Given the description of an element on the screen output the (x, y) to click on. 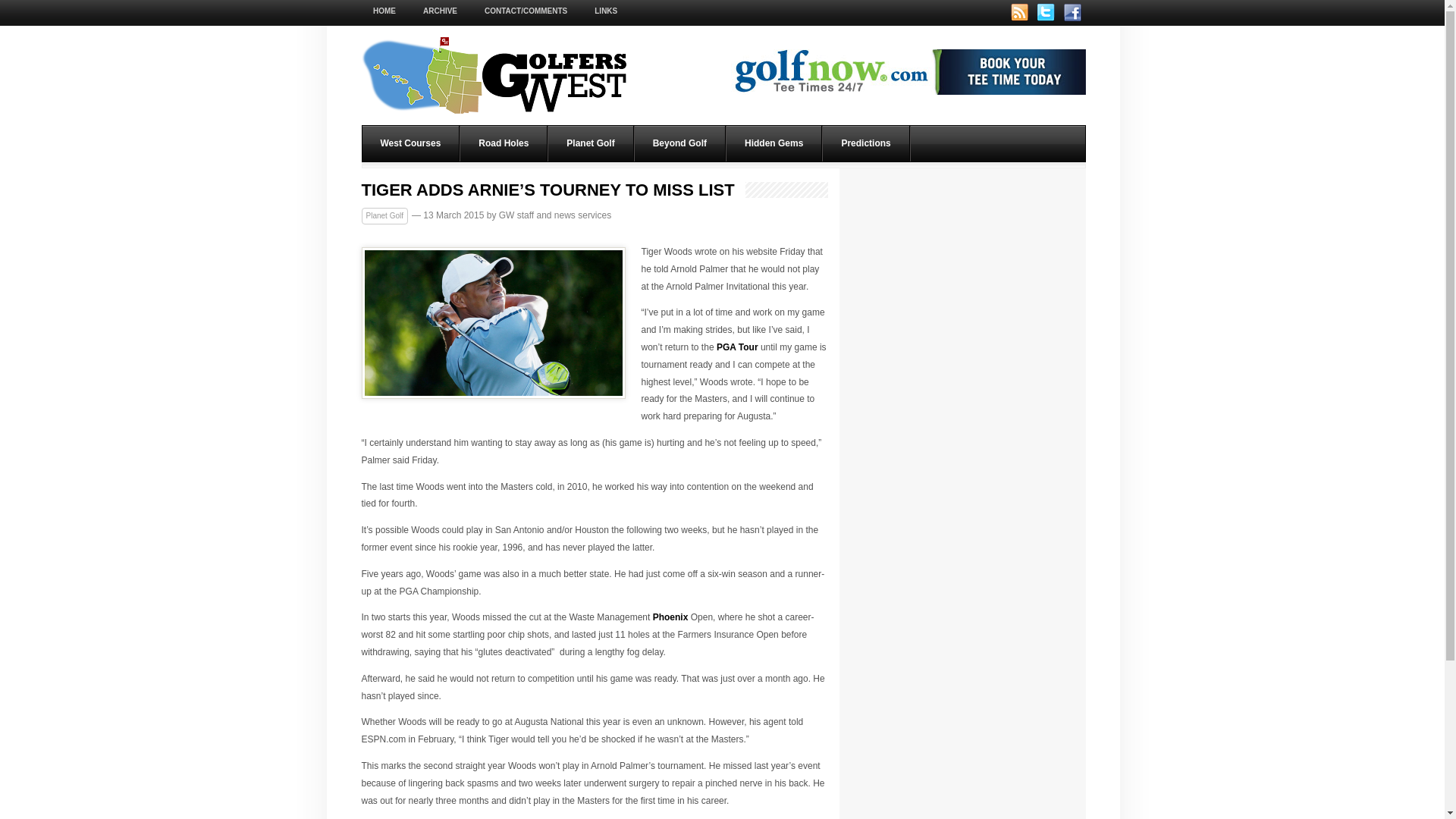
LINKS (605, 11)
Road Holes (503, 143)
HOME (384, 11)
ARCHIVE (439, 11)
West Courses (411, 143)
